Given the description of an element on the screen output the (x, y) to click on. 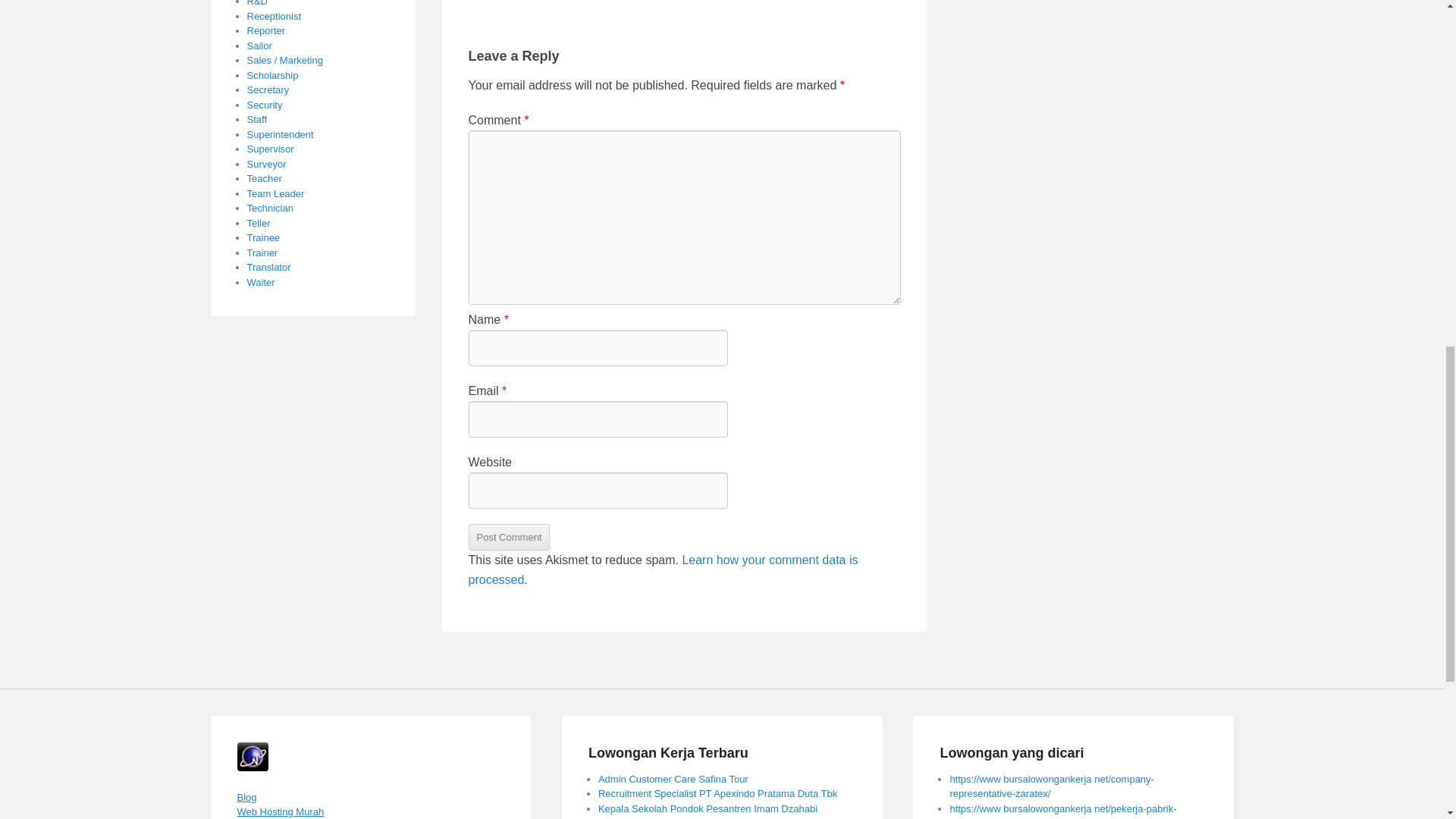
eXTReMe Tracker - Free Website Statistics (251, 767)
Post Comment (509, 537)
Learn how your comment data is processed (663, 569)
Post Comment (509, 537)
